Given the description of an element on the screen output the (x, y) to click on. 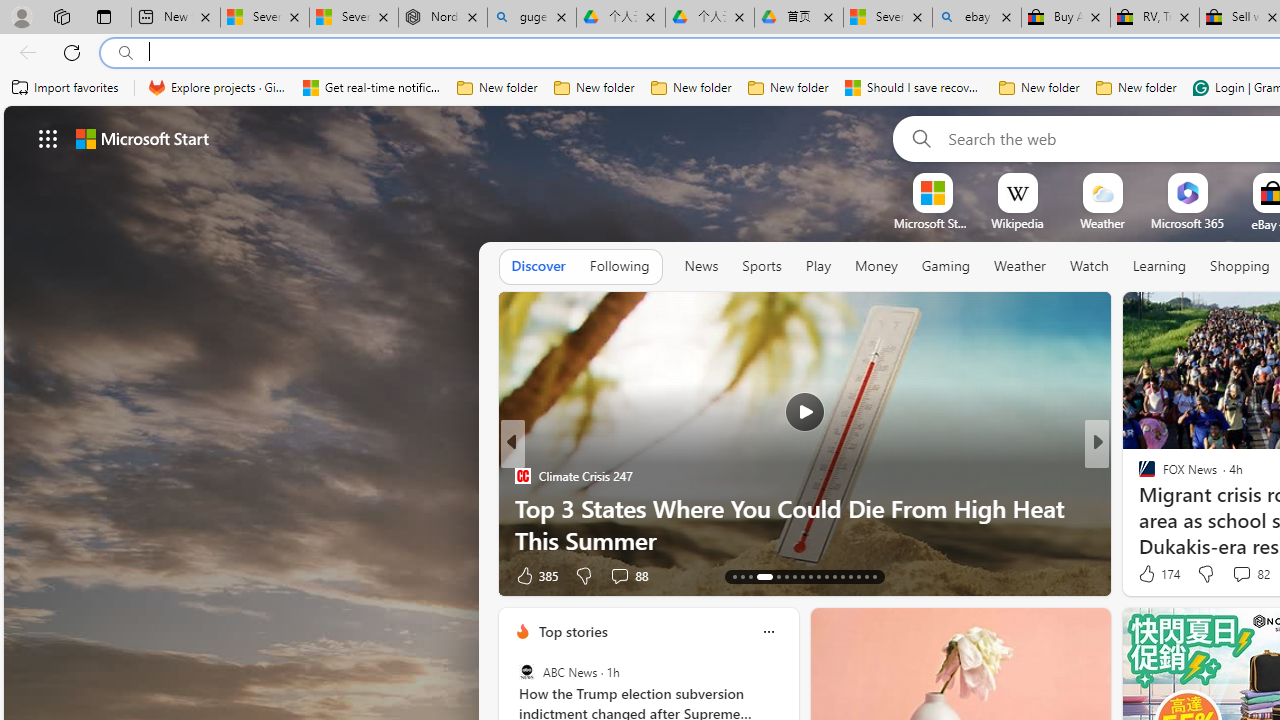
Xiaoyun Pearl (1138, 475)
View comments 7 Comment (1234, 575)
View comments 2 Comment (1234, 574)
Import favorites (65, 88)
View comments 82 Comment (1249, 574)
AutomationID: tab-20 (801, 576)
The Atlantic (1138, 507)
PsychLove (1138, 475)
Buy Auto Parts & Accessories | eBay (1065, 17)
